Given the description of an element on the screen output the (x, y) to click on. 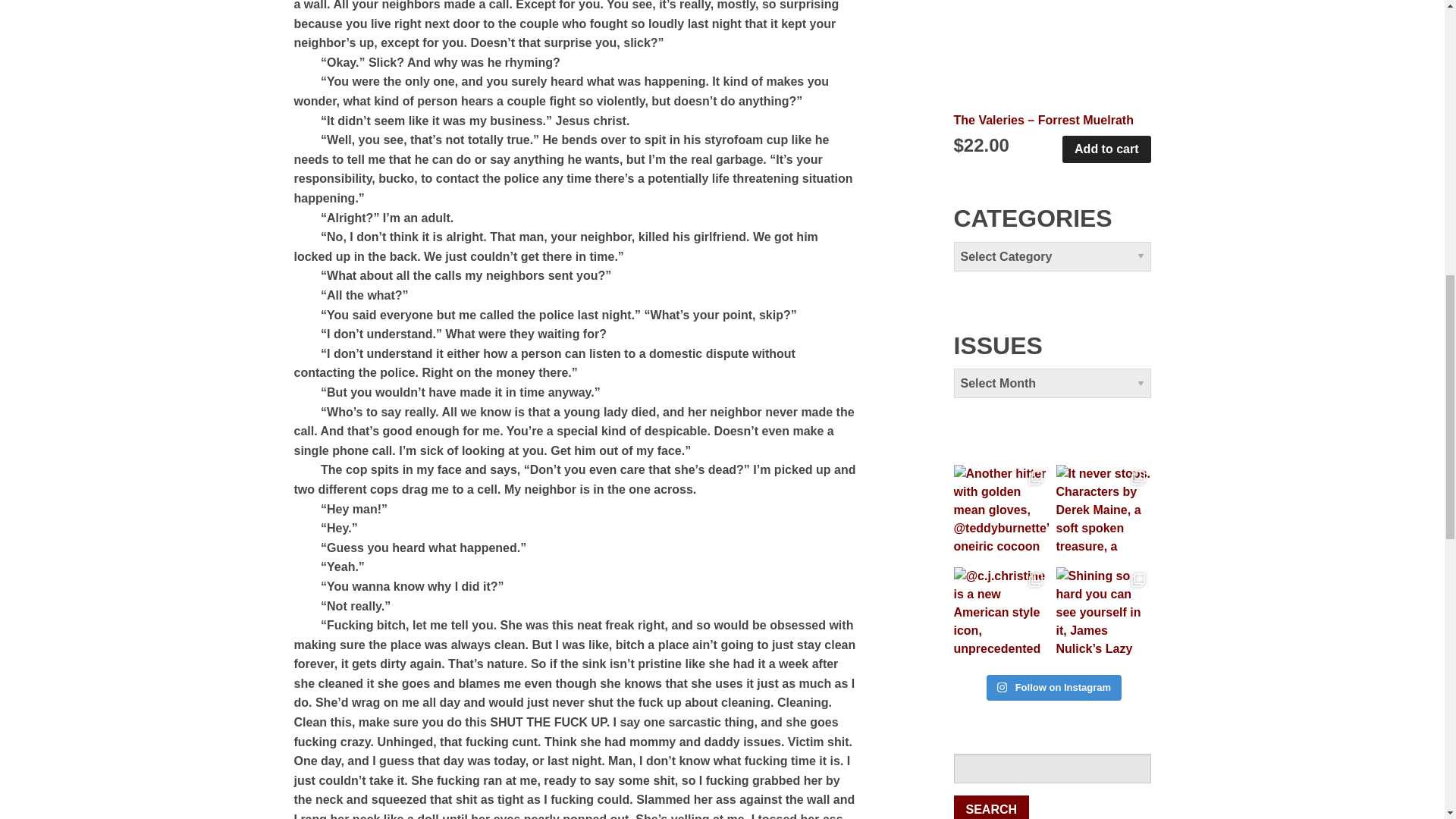
Search (991, 807)
Search (991, 807)
Follow on Instagram (1054, 687)
Add to cart (1106, 148)
